Given the description of an element on the screen output the (x, y) to click on. 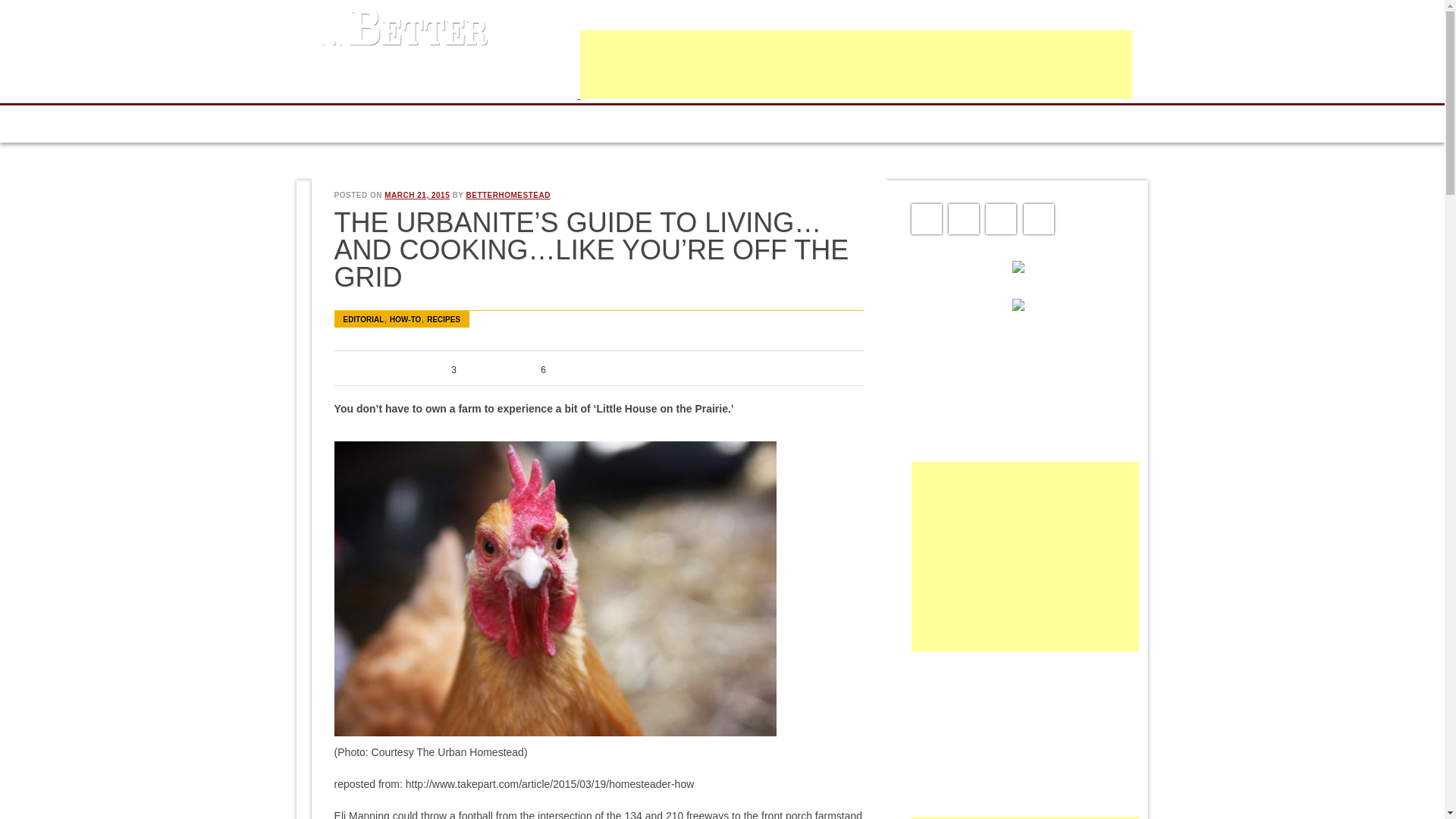
View all posts by betterhomestead (507, 194)
ABOUT (402, 123)
PREPPER PROPERTIES (718, 123)
DOWNLOADS (478, 123)
HOW-TO (405, 319)
MARCH 21, 2015 (416, 194)
6:25 pm (416, 194)
PRODUCTS WE LOVE (587, 123)
6 (527, 370)
RECIPES (443, 319)
